Given the description of an element on the screen output the (x, y) to click on. 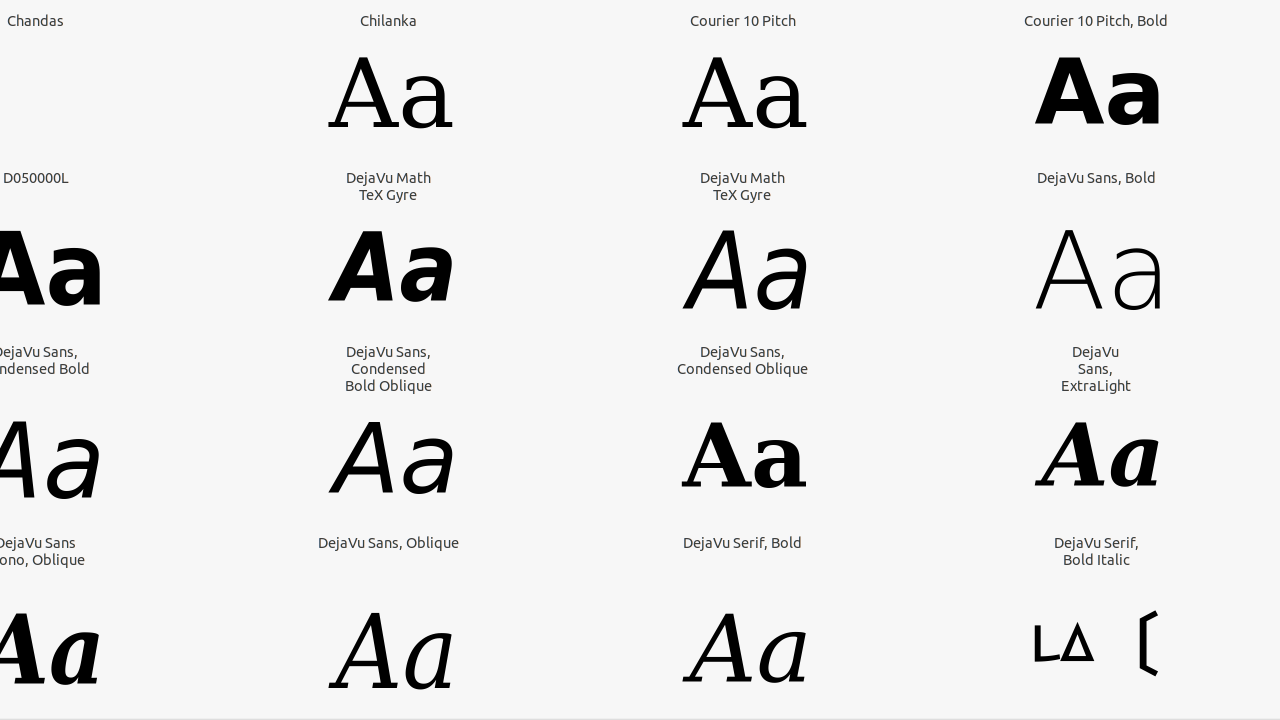
DejaVu Sans, Bold Element type: label (1096, 177)
DejaVu Sans, Oblique Element type: label (388, 542)
DejaVu Serif, Bold Element type: label (742, 542)
DejaVu Sans, Condensed Bold Oblique Element type: label (388, 368)
Chandas Element type: label (35, 20)
